Given the description of an element on the screen output the (x, y) to click on. 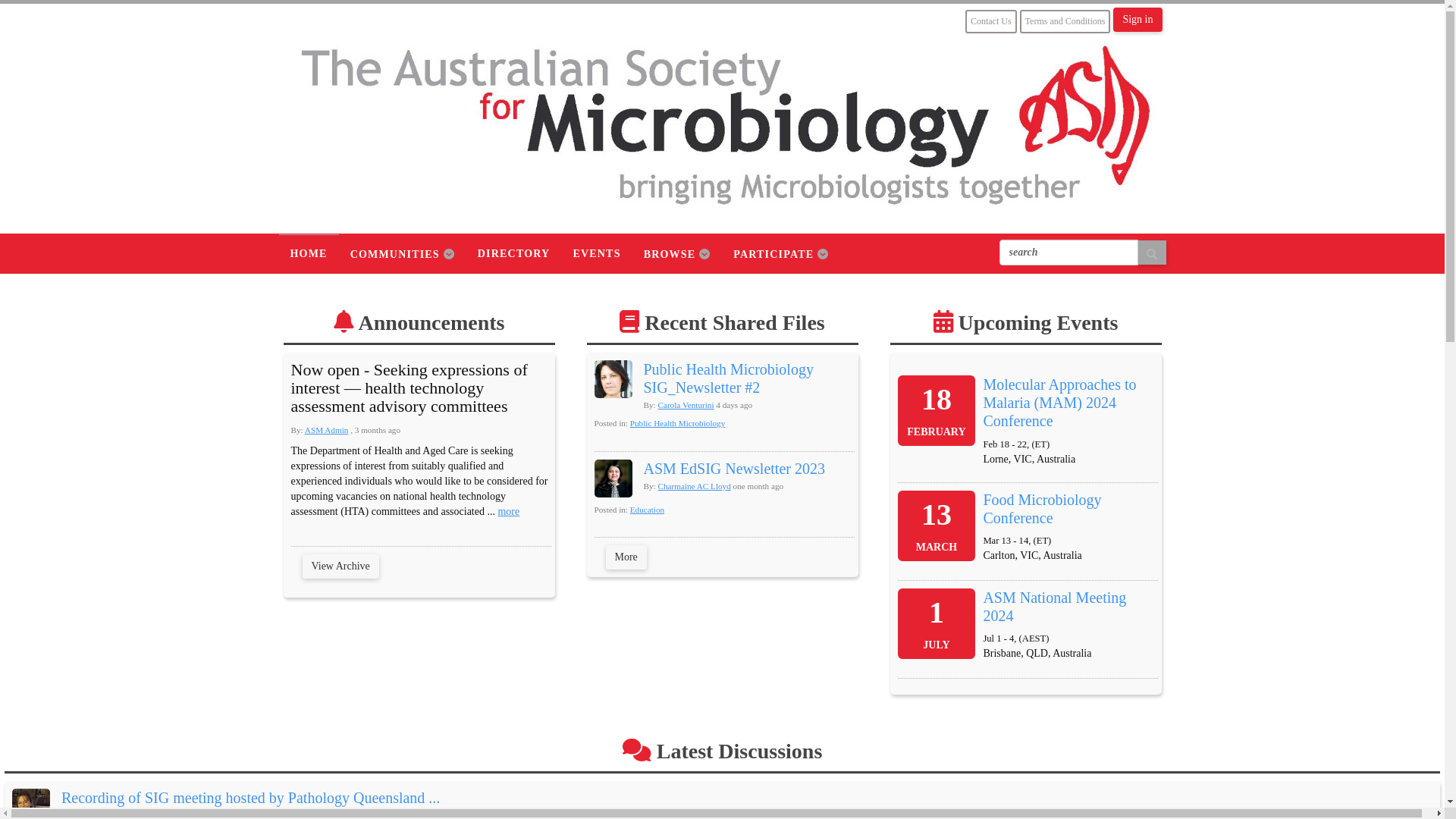
Molecular Approaches to Malaria (MAM) 2024 Conference Element type: text (1058, 402)
Terms and Conditions Element type: text (1064, 21)
Charmaine AC Lloyd Element type: hover (613, 478)
View Archive Element type: text (339, 566)
EVENTS Element type: text (596, 253)
DIRECTORY Element type: text (513, 253)
more Element type: text (508, 511)
HOME Element type: text (308, 253)
search Element type: hover (1068, 252)
Carola Venturini Element type: hover (613, 379)
ASM Admin Element type: text (326, 429)
Recording of SIG meeting hosted by Pathology Queensland ... Element type: text (250, 797)
Sign in Element type: text (1137, 19)
Charmaine AC Lloyd Element type: text (693, 485)
ASM EdSIG Newsletter 2023 Element type: text (733, 468)
Education Element type: text (647, 509)
Public Health Microbiology Element type: text (677, 422)
COMMUNITIES Element type: text (402, 253)
ASM National Meeting 2024 Element type: text (1054, 606)
More Element type: text (625, 557)
Carola Venturini Element type: text (685, 404)
PARTICIPATE Element type: text (780, 253)
Public Health Microbiology SIG_Newsletter #2 Element type: text (727, 377)
Contact Us Element type: text (990, 21)
BROWSE Element type: text (677, 253)
Food Microbiology Conference Element type: text (1041, 508)
